Given the description of an element on the screen output the (x, y) to click on. 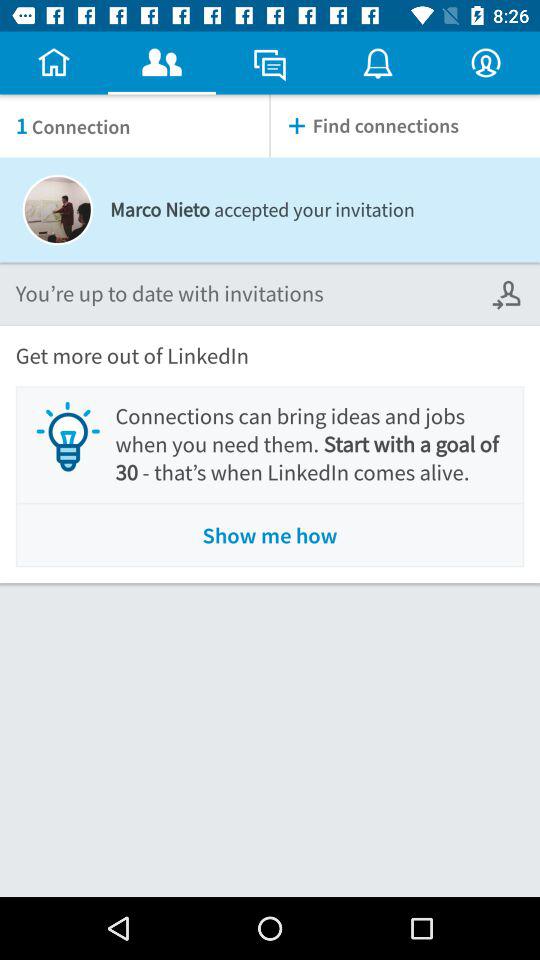
scroll to find connections icon (405, 125)
